Given the description of an element on the screen output the (x, y) to click on. 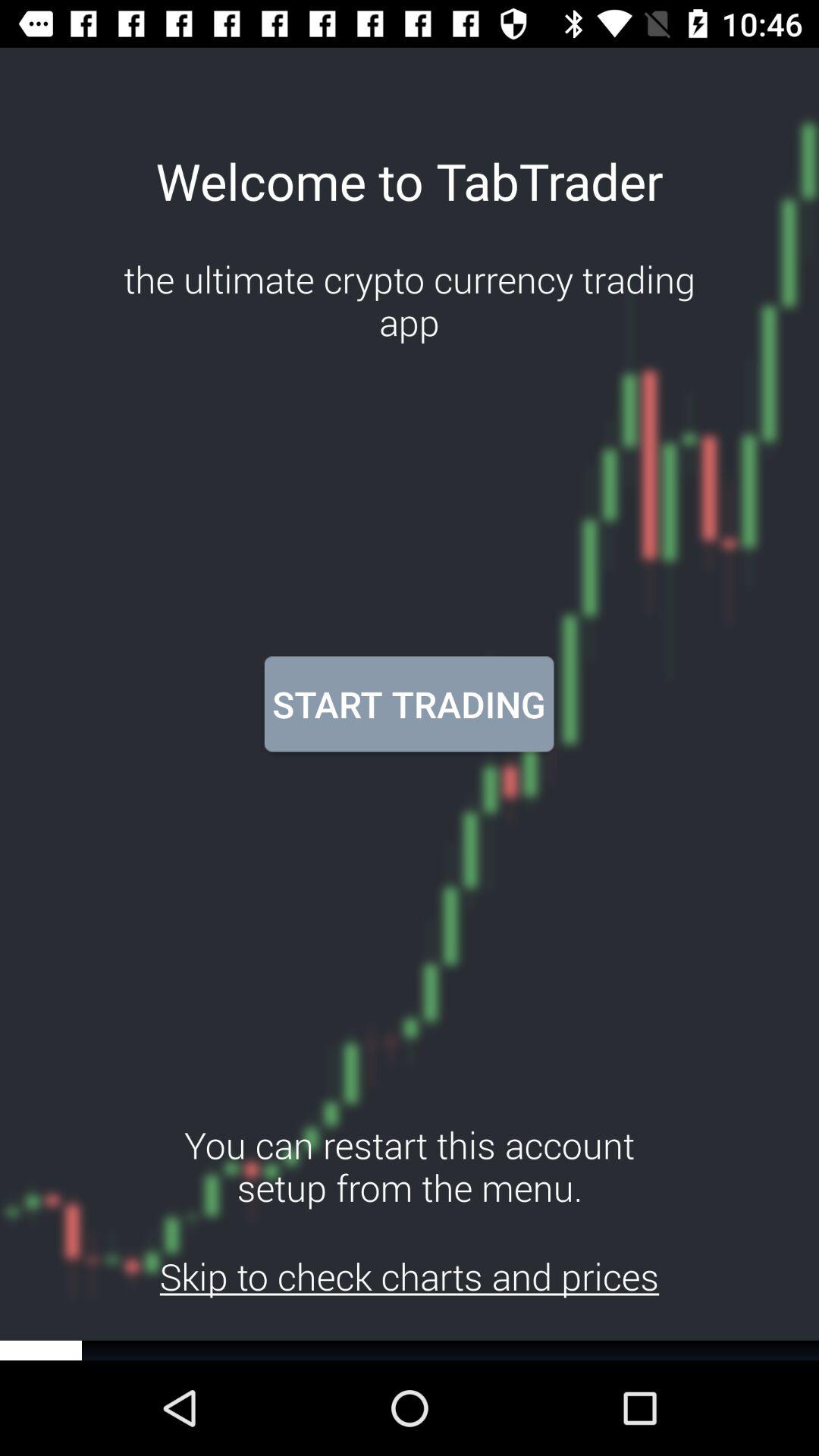
scroll until the skip to check icon (409, 1275)
